Given the description of an element on the screen output the (x, y) to click on. 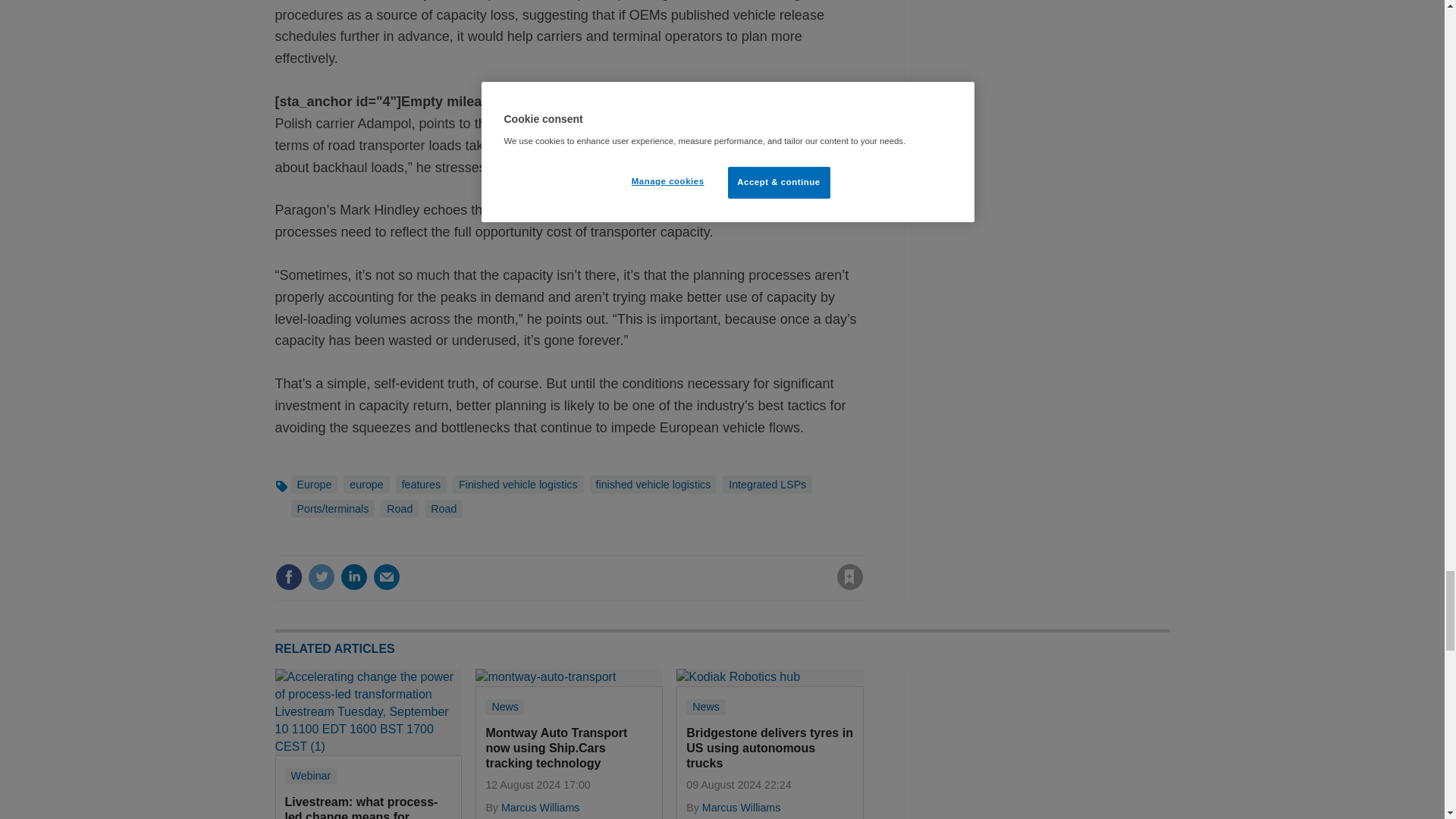
Email this article (386, 576)
3rd party ad content (1055, 744)
Share this on Facebook (288, 576)
Share this on Twitter (320, 576)
Share this on Linked in (352, 576)
